Given the description of an element on the screen output the (x, y) to click on. 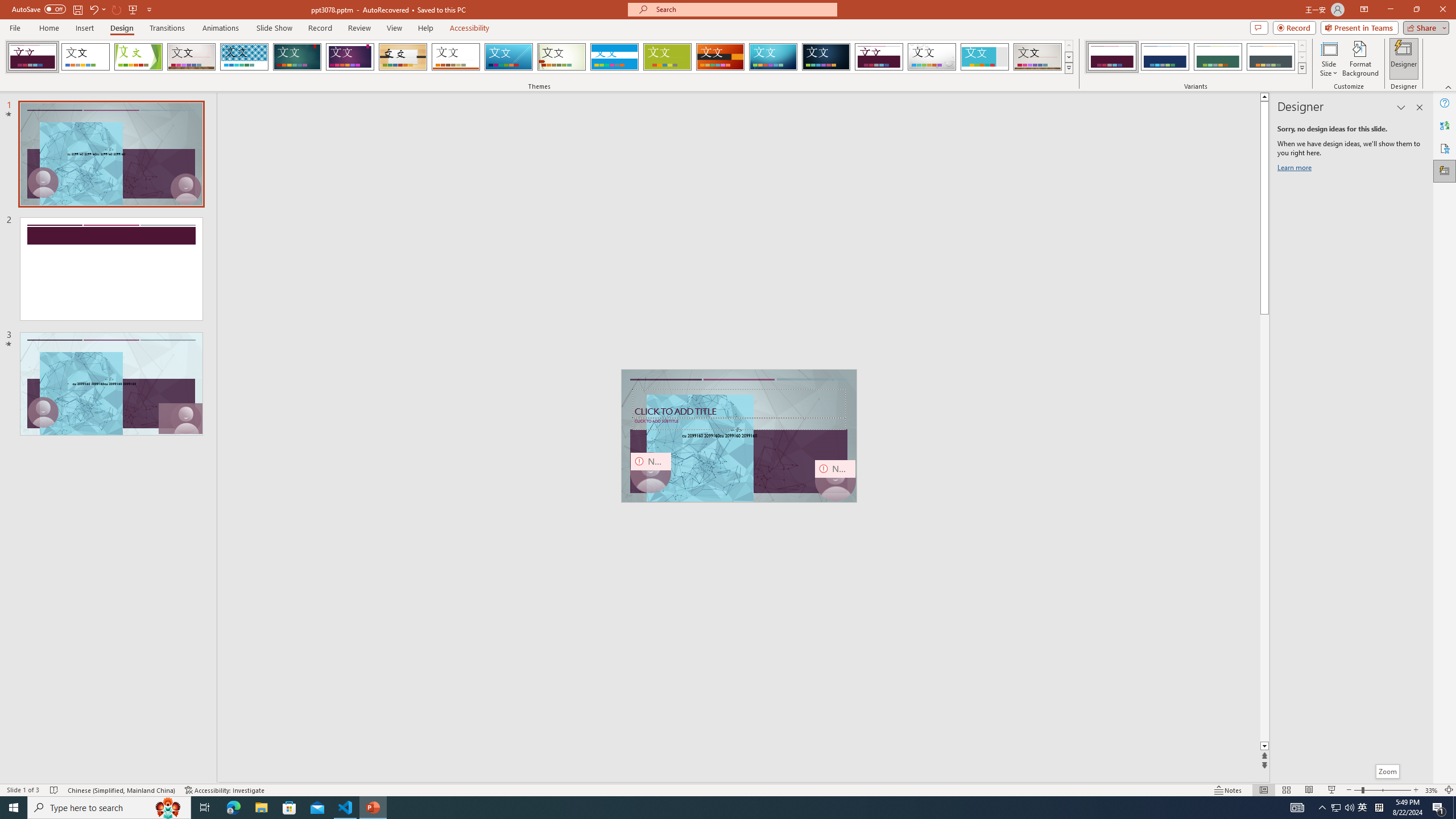
Learn more (1295, 169)
Basis (667, 56)
Zoom 33% (1431, 790)
Dividend (879, 56)
Frame (984, 56)
Damask (826, 56)
AutomationID: ThemeVariantsGallery (1195, 56)
